Given the description of an element on the screen output the (x, y) to click on. 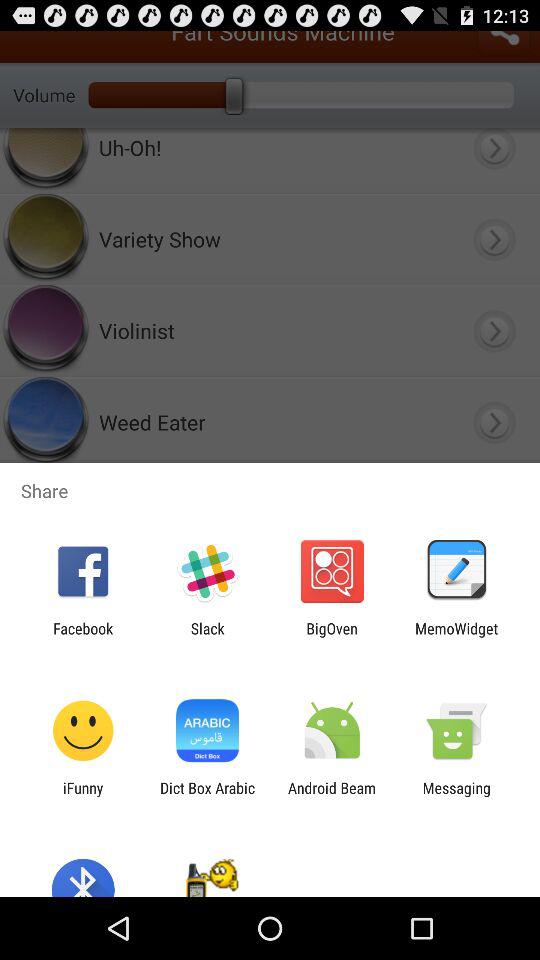
choose the memowidget item (456, 637)
